Given the description of an element on the screen output the (x, y) to click on. 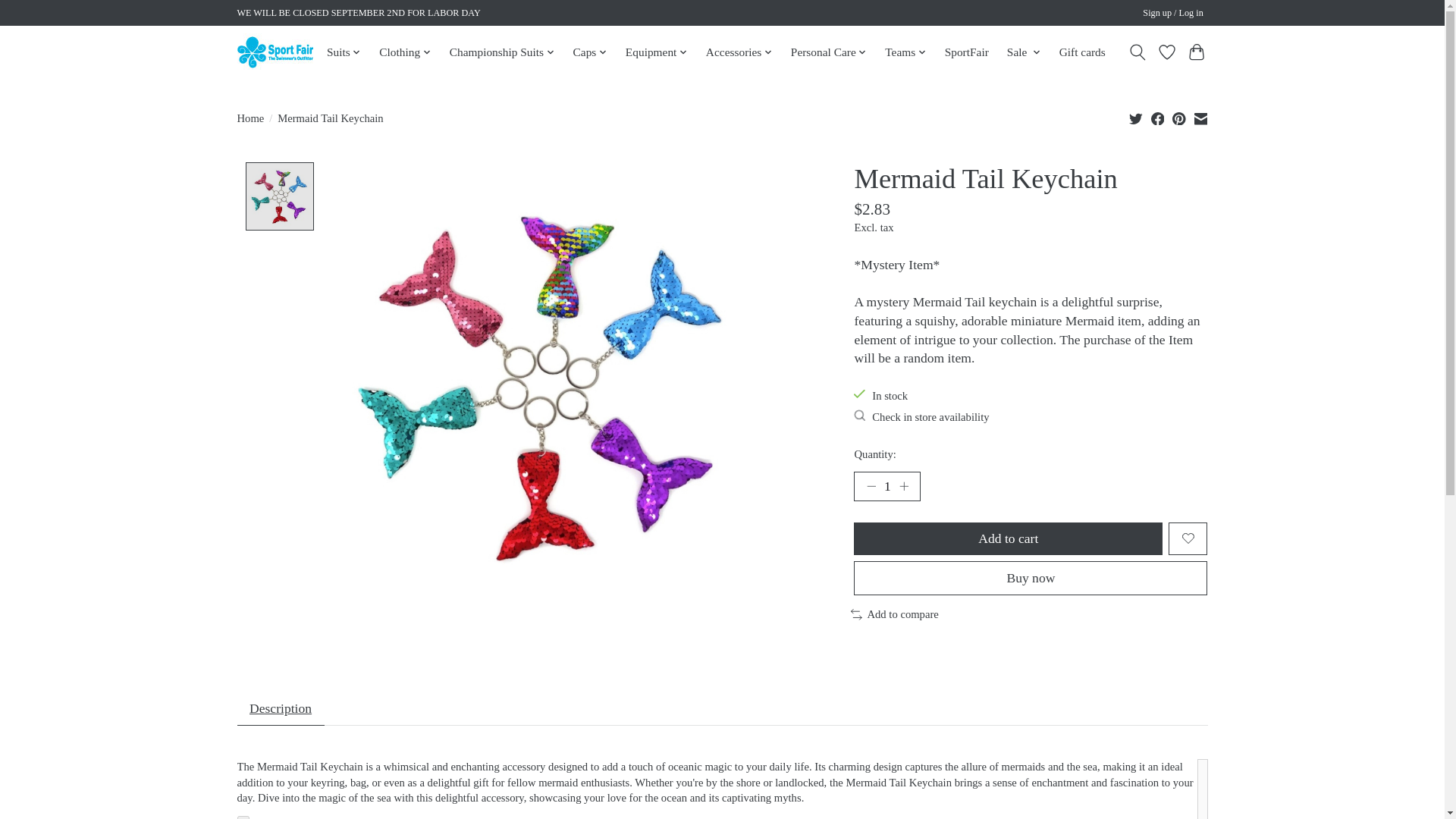
Championship Suits (501, 52)
Share on Pinterest (1178, 118)
Share by Email (1200, 118)
Sportfairusa.com. Welcome All Competitive Swimmers. (274, 51)
Clothing (405, 52)
1 (886, 486)
My account (1173, 13)
Equipment (656, 52)
